Given the description of an element on the screen output the (x, y) to click on. 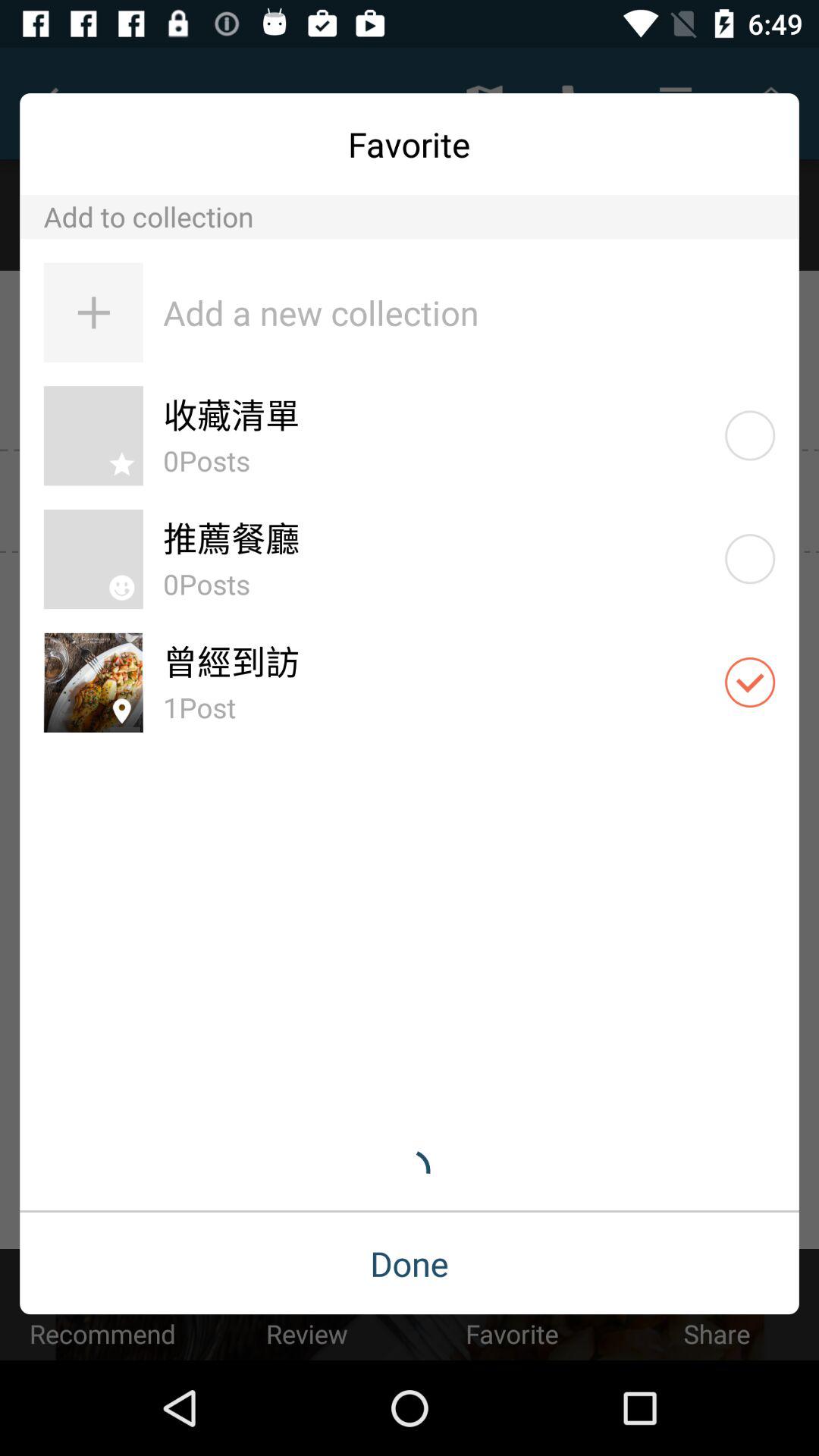
jump until the done icon (409, 1263)
